Given the description of an element on the screen output the (x, y) to click on. 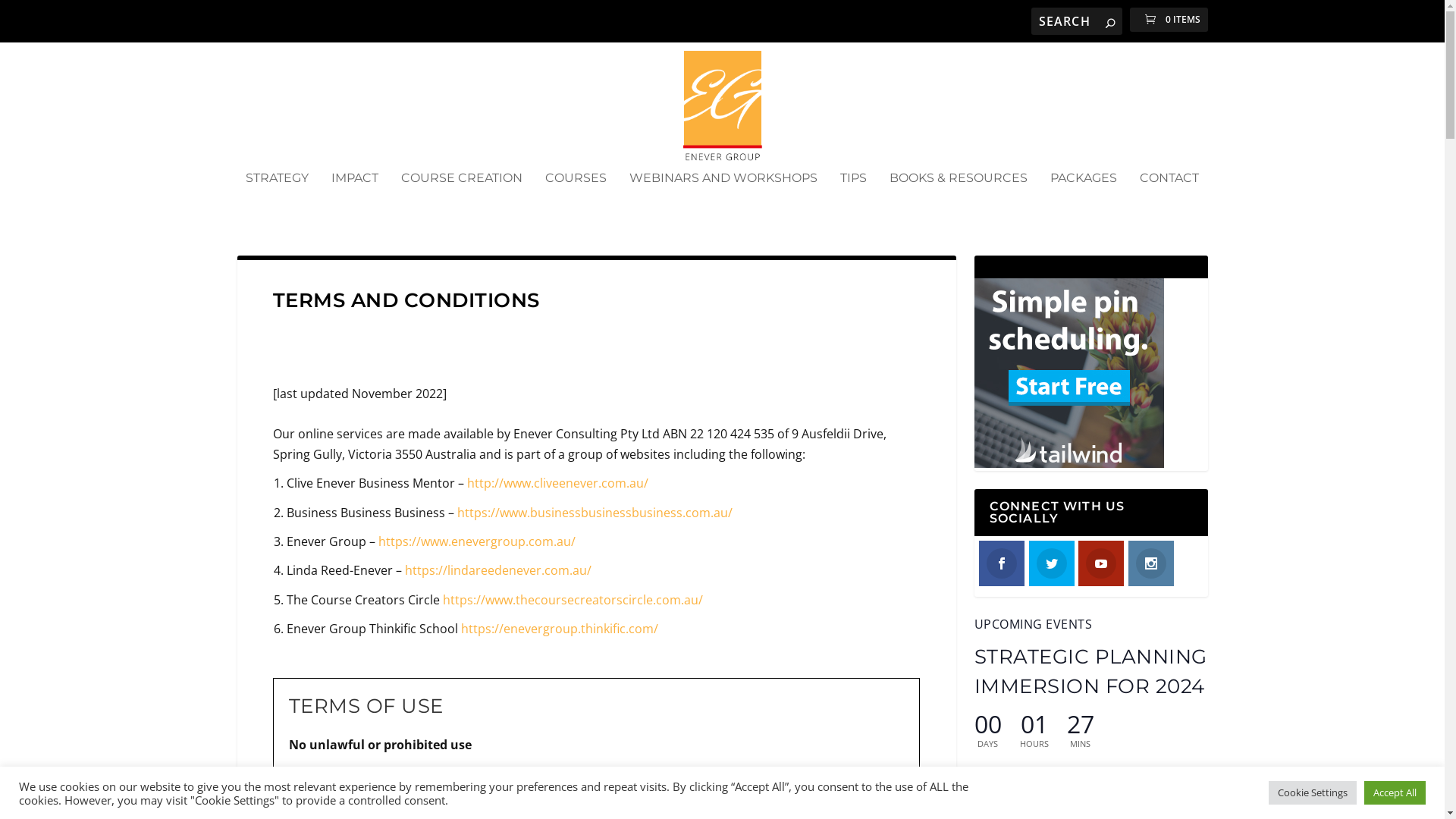
http://www.cliveenever.com.au/ Element type: text (557, 482)
COURSE CREATION Element type: text (461, 198)
Search for: Element type: hover (1076, 20)
CONTACT Element type: text (1168, 198)
TIPS Element type: text (853, 198)
STRATEGIC PLANNING IMMERSION FOR 2024 Element type: text (1089, 671)
https://lindareedenever.com.au/ Element type: text (497, 569)
https://enevergroup.thinkific.com/ Element type: text (559, 628)
BOOKS & RESOURCES Element type: text (958, 198)
Search Element type: text (36, 19)
0 ITEMS Element type: text (1168, 19)
https://www.enevergroup.com.au/ Element type: text (476, 541)
Cookie Settings Element type: text (1312, 792)
Accept All Element type: text (1394, 792)
PACKAGES Element type: text (1083, 198)
https://www.thecoursecreatorscircle.com.au/ Element type: text (572, 599)
WEBINARS AND WORKSHOPS Element type: text (723, 198)
IMPACT Element type: text (354, 198)
https://www.businessbusinessbusiness.com.au/ Element type: text (594, 512)
COURSES Element type: text (575, 198)
STRATEGY Element type: text (276, 198)
